Given the description of an element on the screen output the (x, y) to click on. 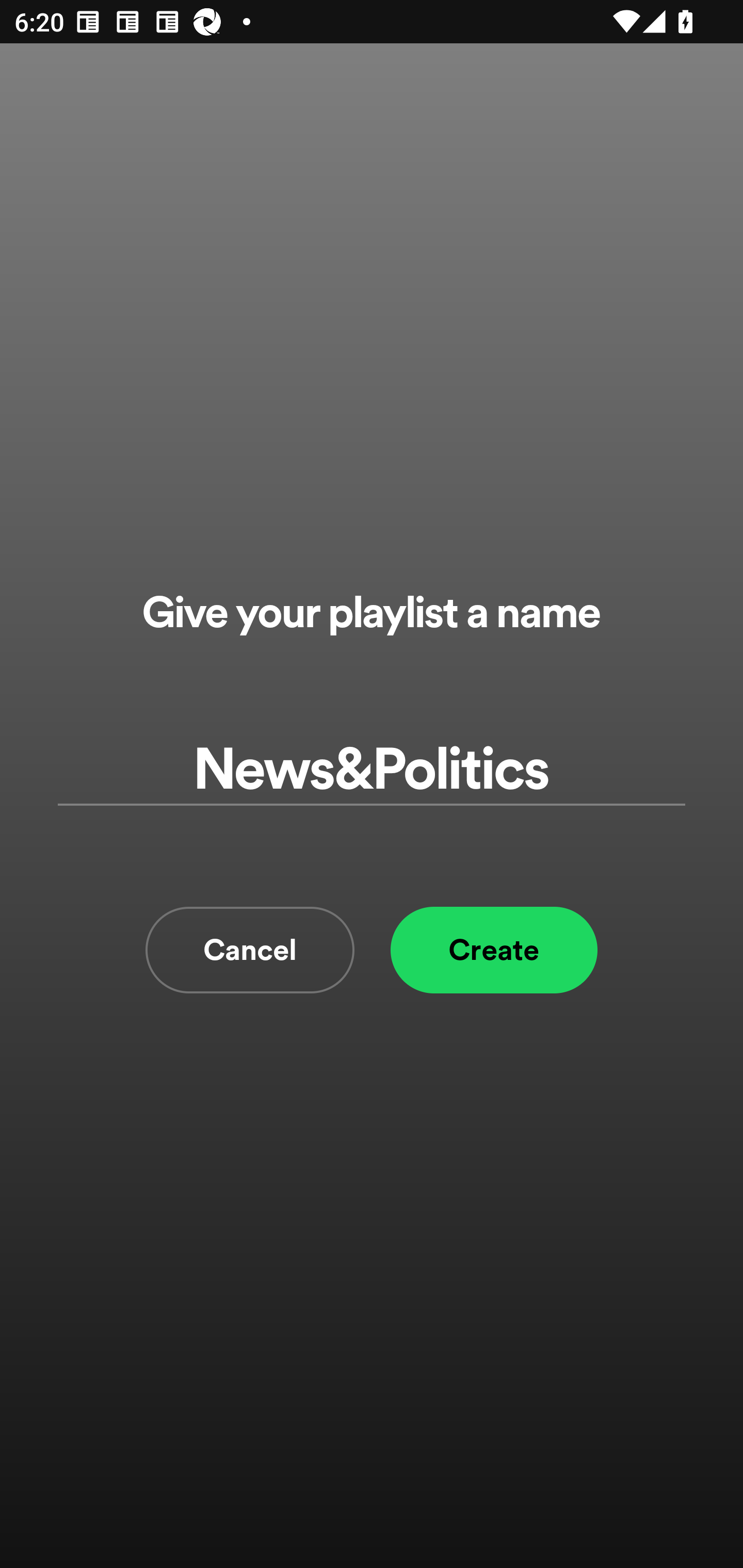
News&Politics Add a playlist name (371, 769)
Cancel (249, 950)
Create (493, 950)
